Given the description of an element on the screen output the (x, y) to click on. 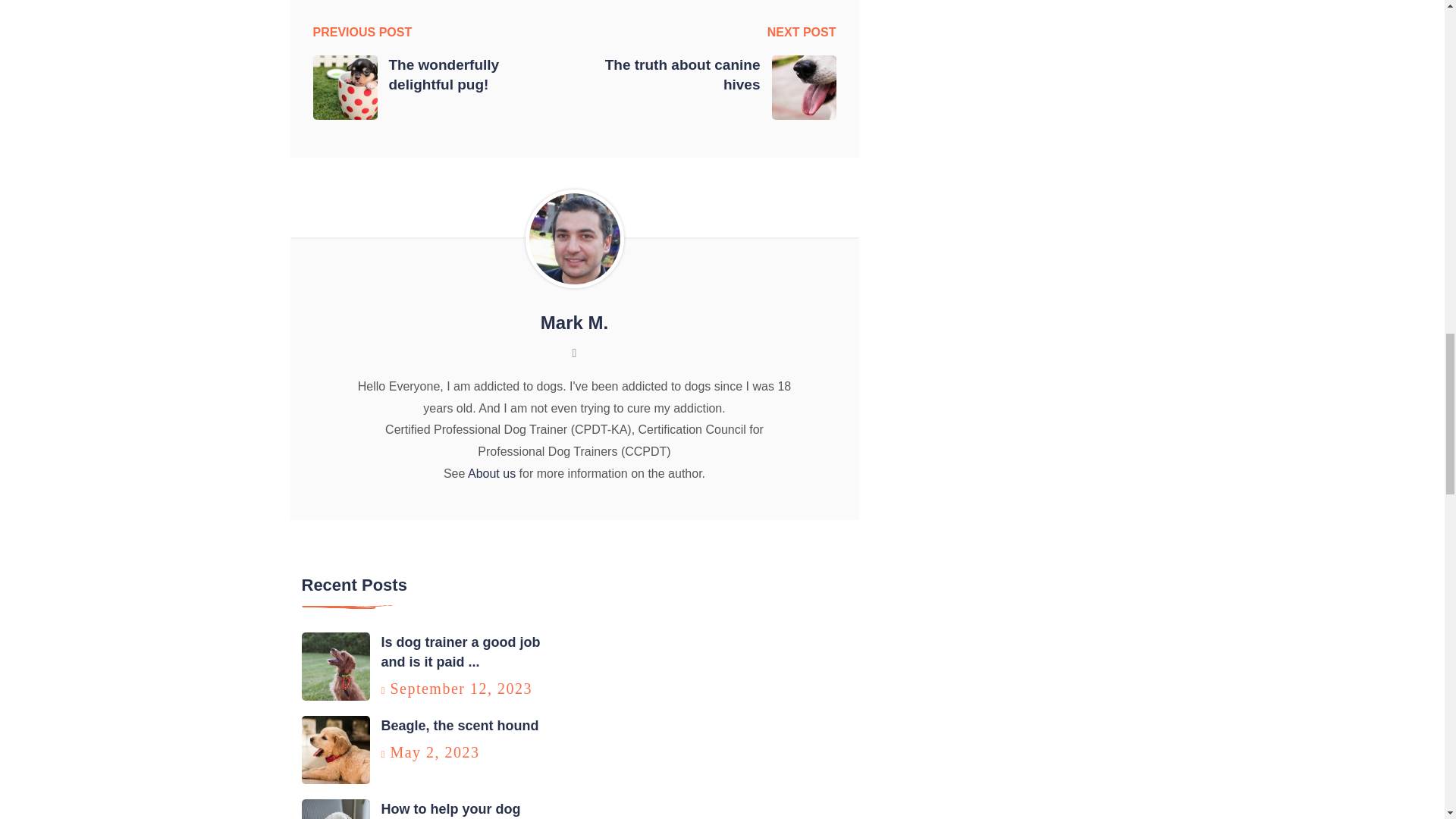
PREVIOUS POST (362, 33)
About us (491, 472)
The truth about canine hives (672, 75)
Is dog trainer a good job and is it paid ... (460, 651)
NEXT POST (801, 33)
September 12, 2023 (461, 688)
The wonderfully delightful pug! (475, 75)
